Given the description of an element on the screen output the (x, y) to click on. 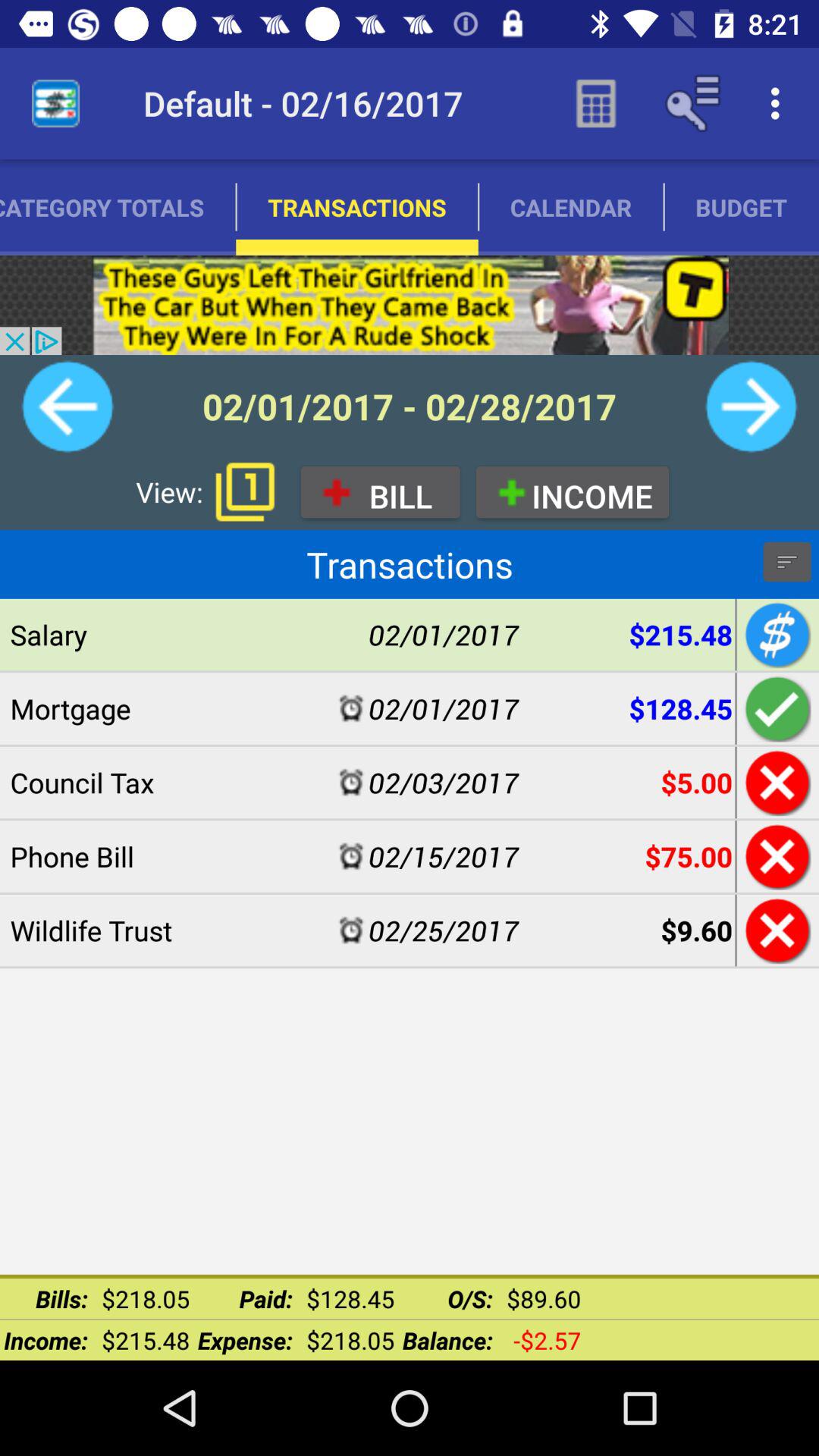
exit wildlife trust (775, 930)
